Given the description of an element on the screen output the (x, y) to click on. 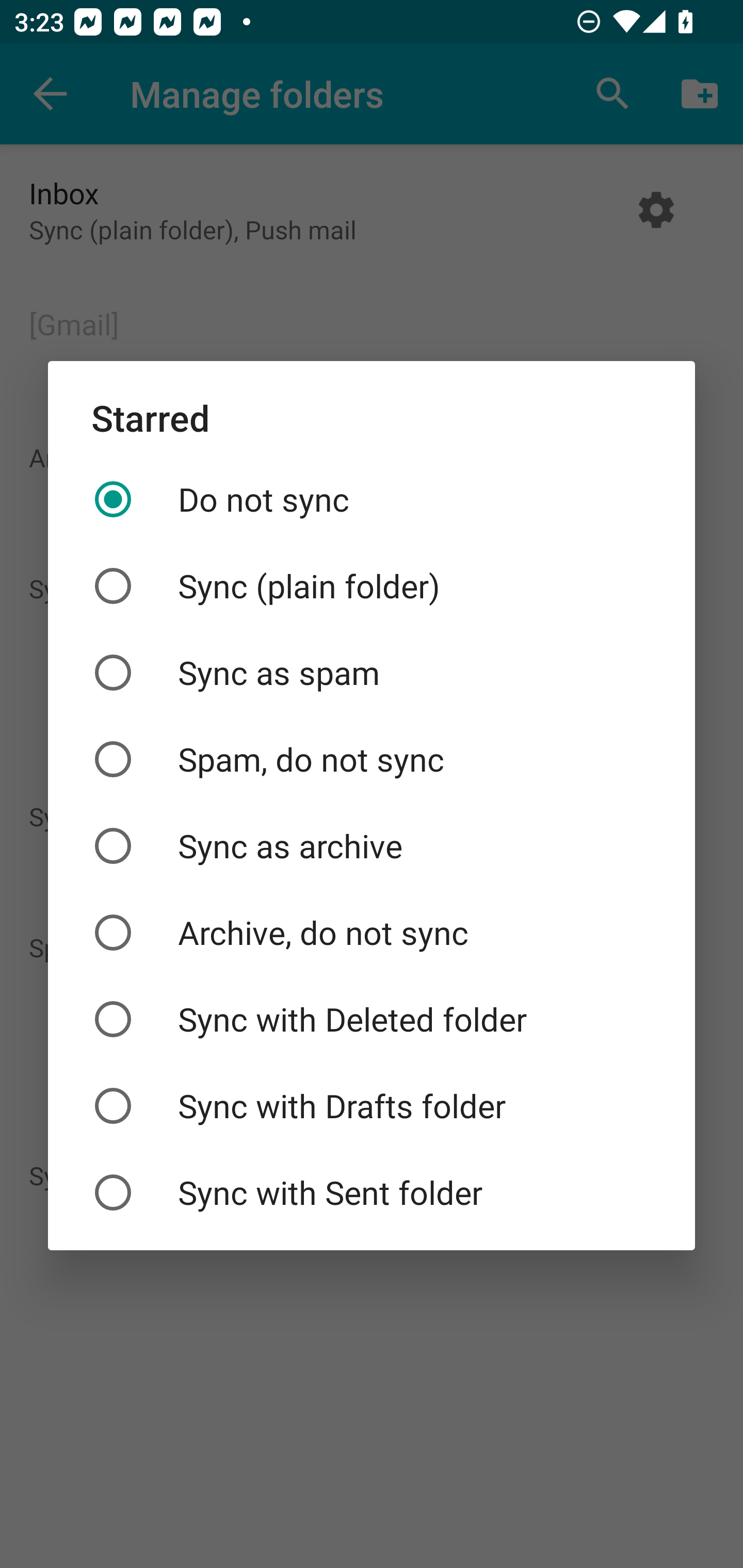
Do not sync (371, 499)
Sync (plain folder) (371, 585)
Sync as spam (371, 672)
Spam, do not sync (371, 759)
Sync as archive (371, 845)
Archive, do not sync (371, 932)
Sync with Deleted folder (371, 1019)
Sync with Drafts folder (371, 1106)
Sync with Sent folder (371, 1192)
